Given the description of an element on the screen output the (x, y) to click on. 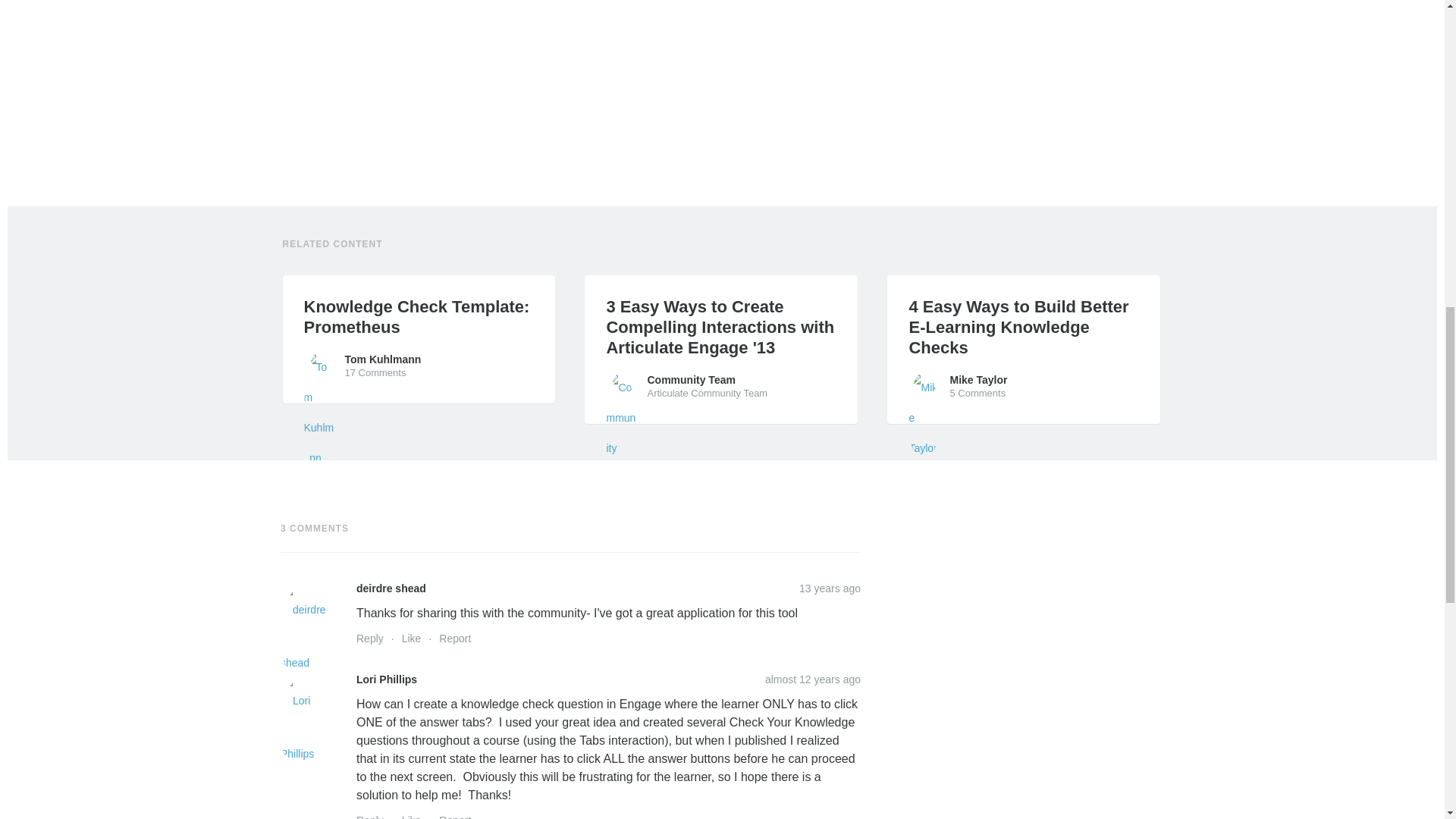
4 Easy Ways to Build Better E-Learning Knowledge Checks (1023, 326)
Knowledge Check Template: Prometheus (418, 316)
